Given the description of an element on the screen output the (x, y) to click on. 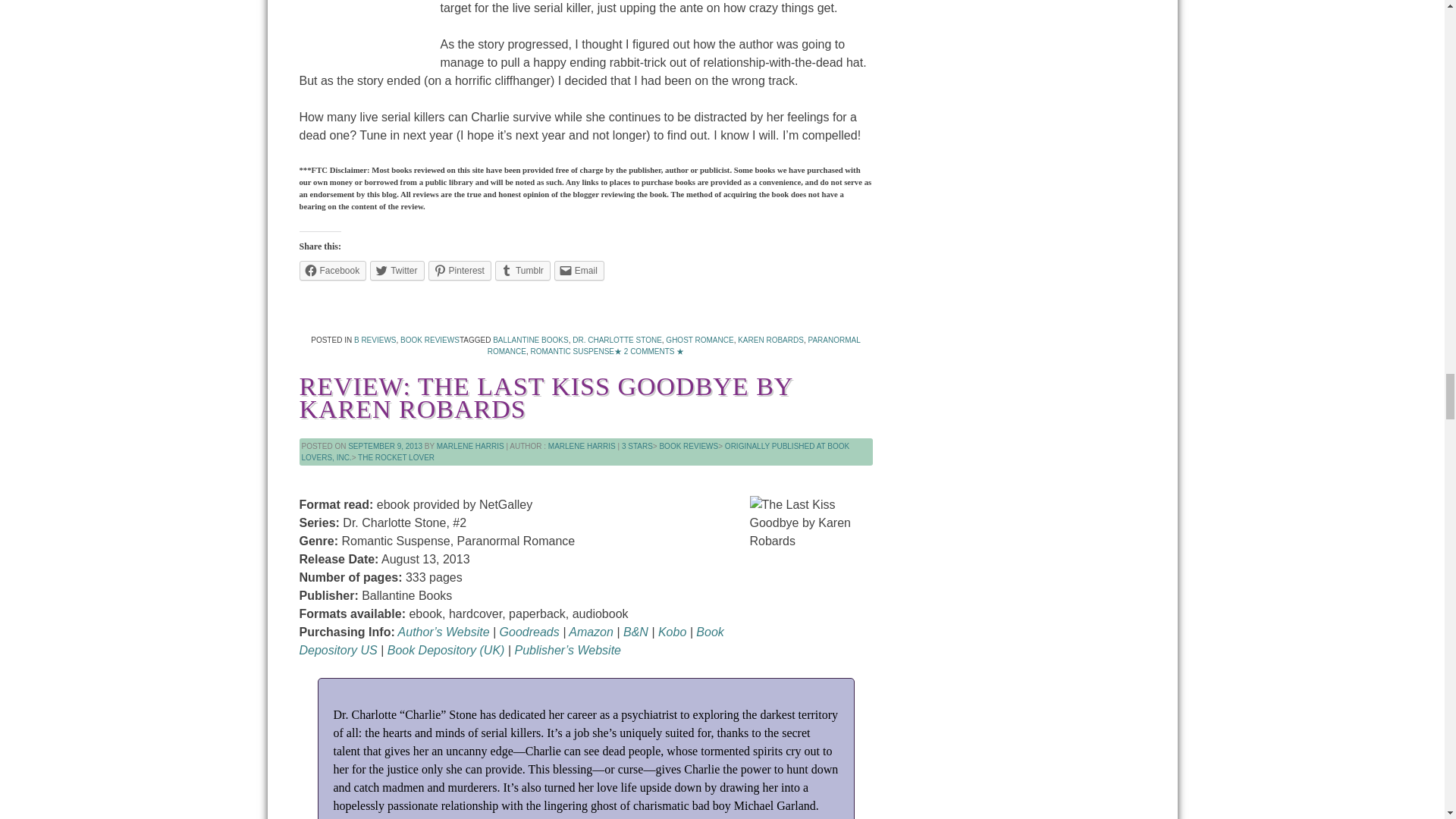
Click to share on Facebook (332, 270)
